Given the description of an element on the screen output the (x, y) to click on. 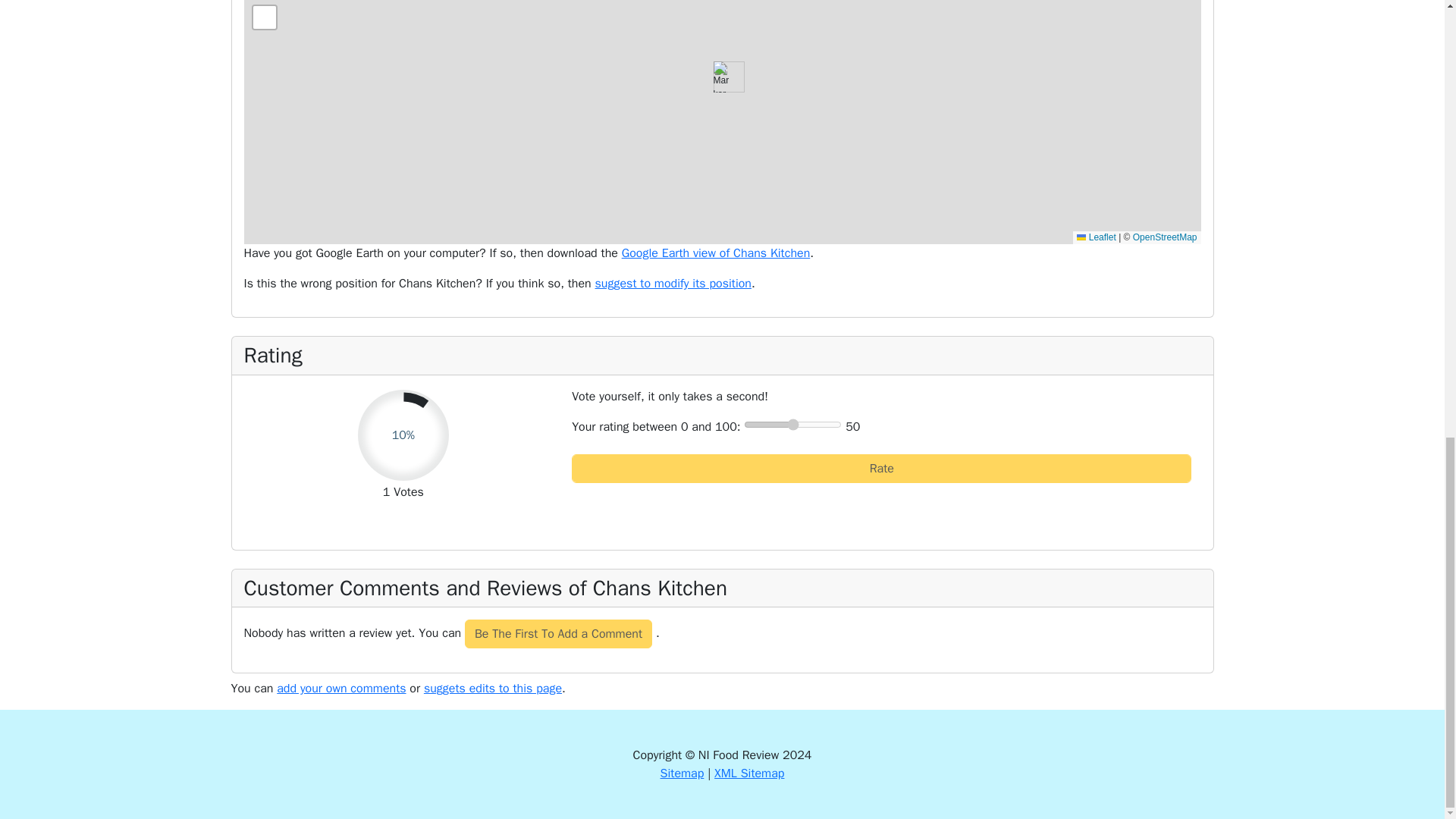
Leaflet (1096, 236)
50 (792, 424)
Rate (881, 468)
add your own comments (341, 688)
Be The First To Add a Comment (558, 633)
A JavaScript library for interactive maps (1096, 236)
XML Sitemap (749, 773)
suggets edits to this page (492, 688)
Google Earth view of Chans Kitchen (715, 253)
View Fullscreen (264, 16)
suggest to modify its position (673, 283)
Sitemap (682, 773)
OpenStreetMap (1164, 236)
